Given the description of an element on the screen output the (x, y) to click on. 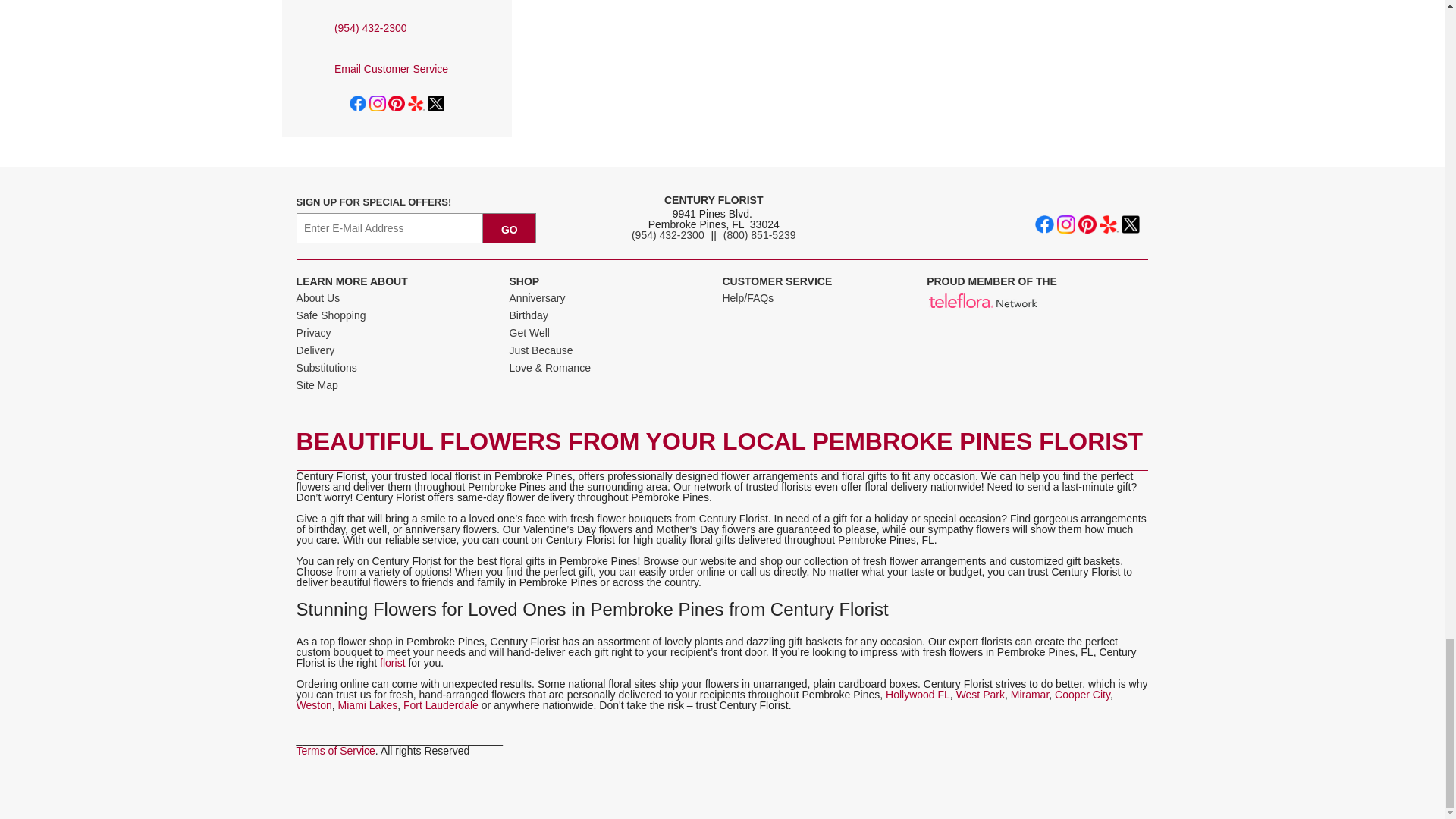
go (509, 227)
Email Sign up (390, 227)
Map of our location (836, 68)
Go (509, 227)
